Given the description of an element on the screen output the (x, y) to click on. 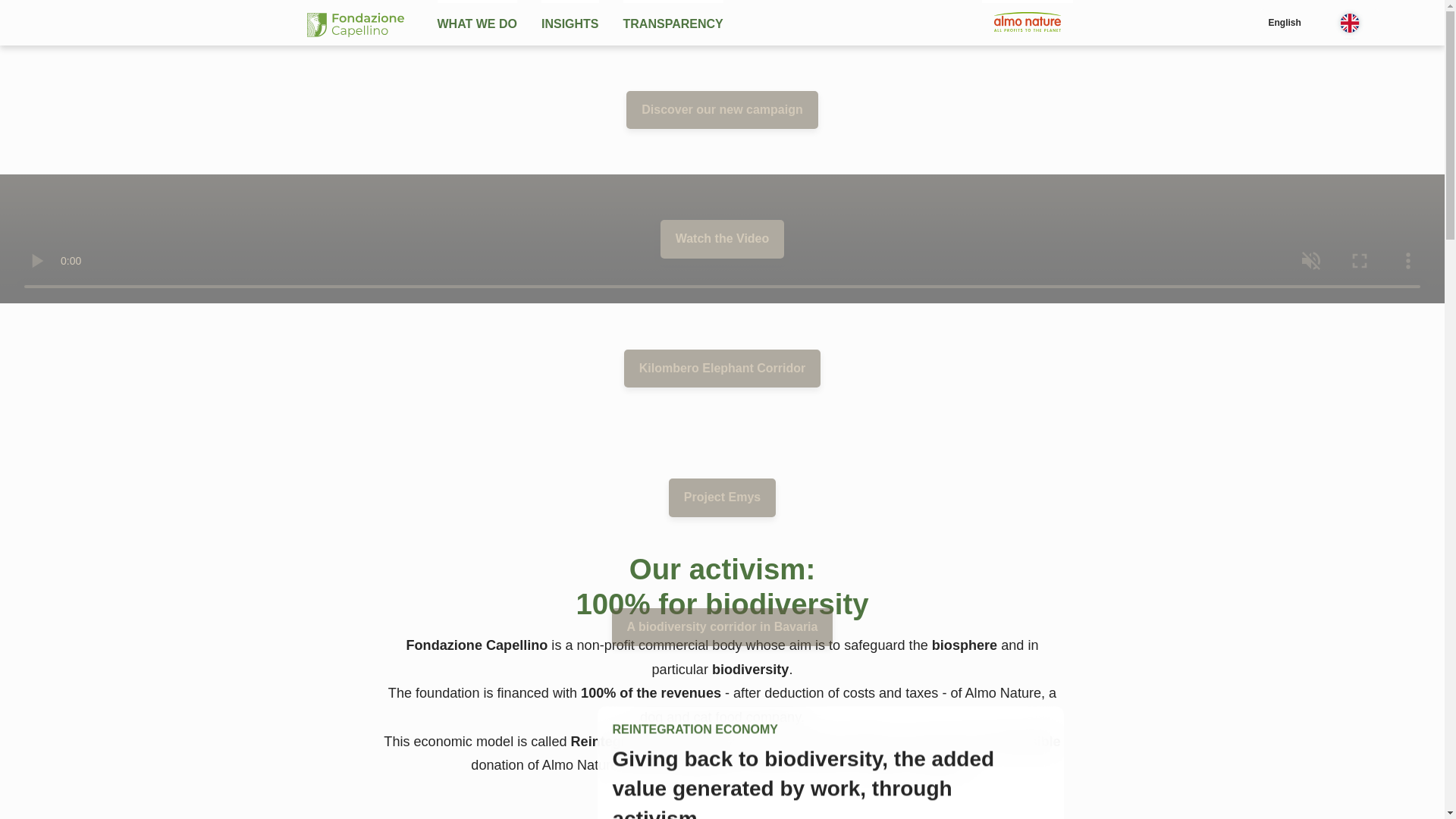
A biodiversity corridor in Bavaria (721, 627)
WHAT WE DO (476, 22)
Kilombero Elephant Corridor (722, 368)
WHAT WE DO (476, 22)
English (1319, 22)
Almo (1026, 22)
TRANSPARENCY (673, 22)
INSIGHTS (569, 22)
Watch the Video (722, 238)
Project Emys (722, 497)
INSIGHTS (569, 22)
Discover our new campaign (722, 109)
TRANSPARENCY (673, 22)
